Given the description of an element on the screen output the (x, y) to click on. 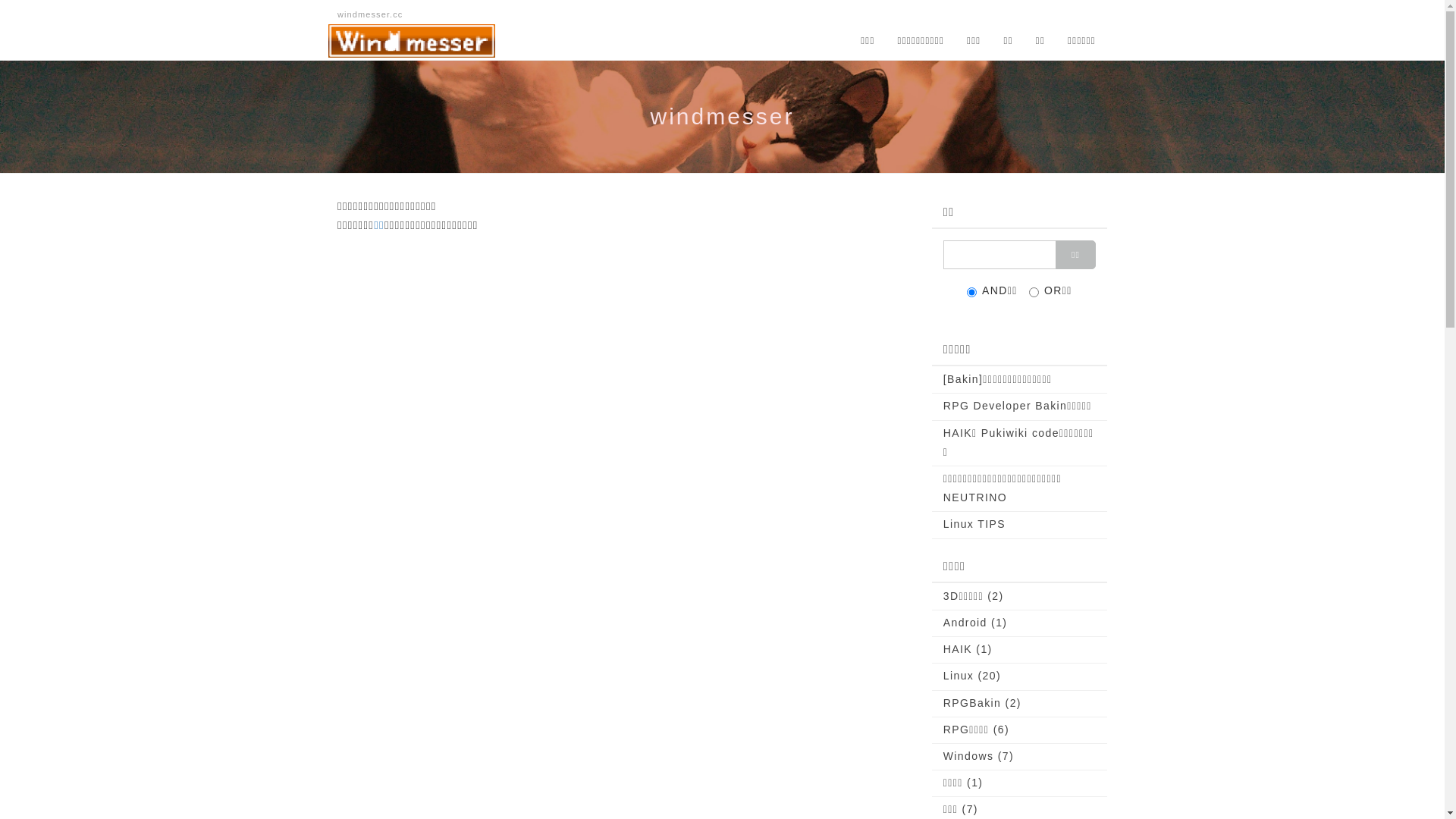
HAIK (1) Element type: text (1019, 649)
Android (1) Element type: text (1019, 622)
Linux (20) Element type: text (1019, 675)
RPGBakin (2) Element type: text (1019, 702)
Linux TIPS Element type: text (1019, 523)
Windows (7) Element type: text (1019, 755)
